Given the description of an element on the screen output the (x, y) to click on. 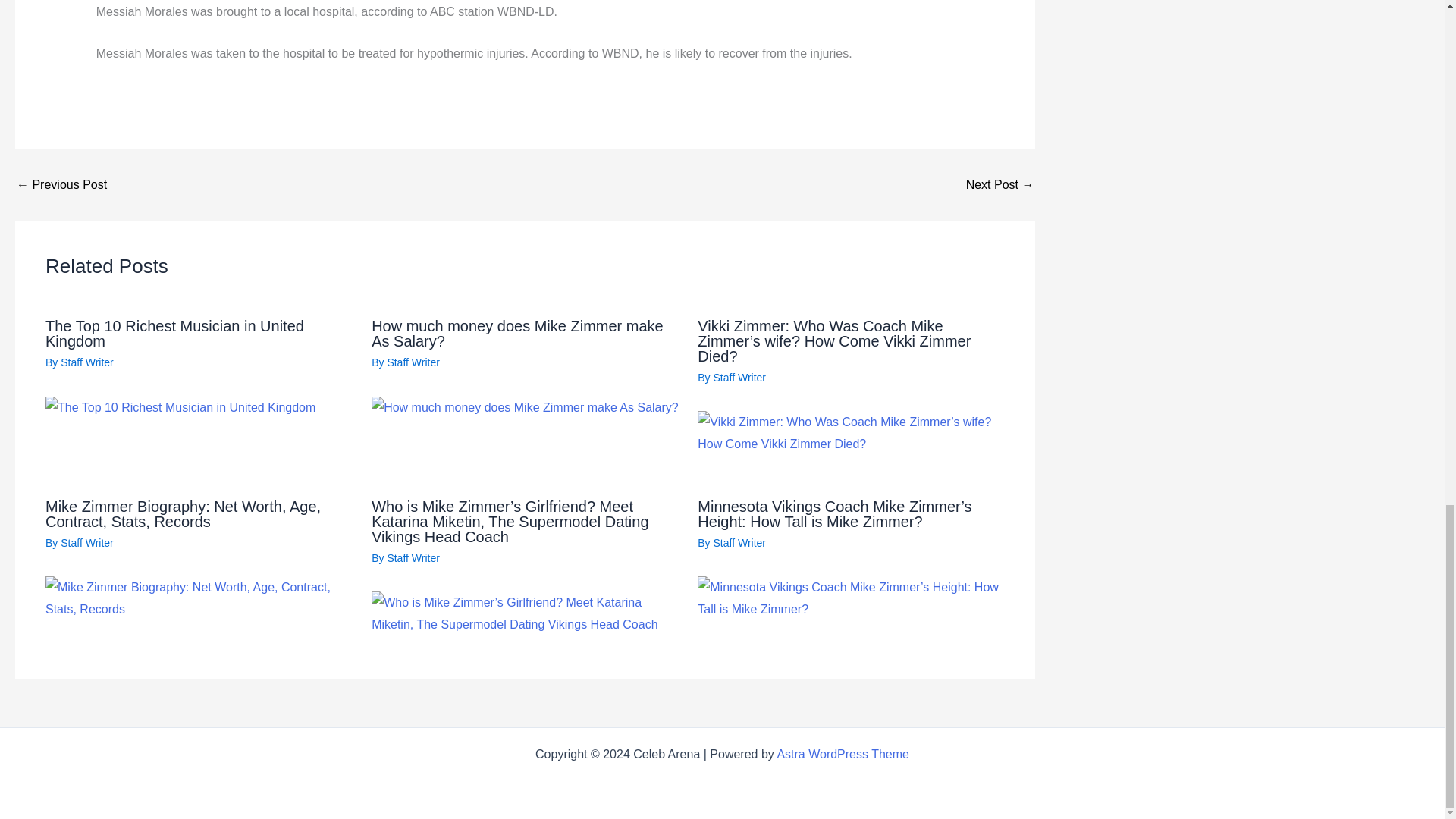
View all posts by Staff Writer (87, 362)
View all posts by Staff Writer (87, 542)
Where Is Alexis Morales son little Messiah? (999, 184)
View all posts by Staff Writer (413, 558)
View all posts by Staff Writer (740, 542)
View all posts by Staff Writer (740, 377)
View all posts by Staff Writer (413, 362)
